Given the description of an element on the screen output the (x, y) to click on. 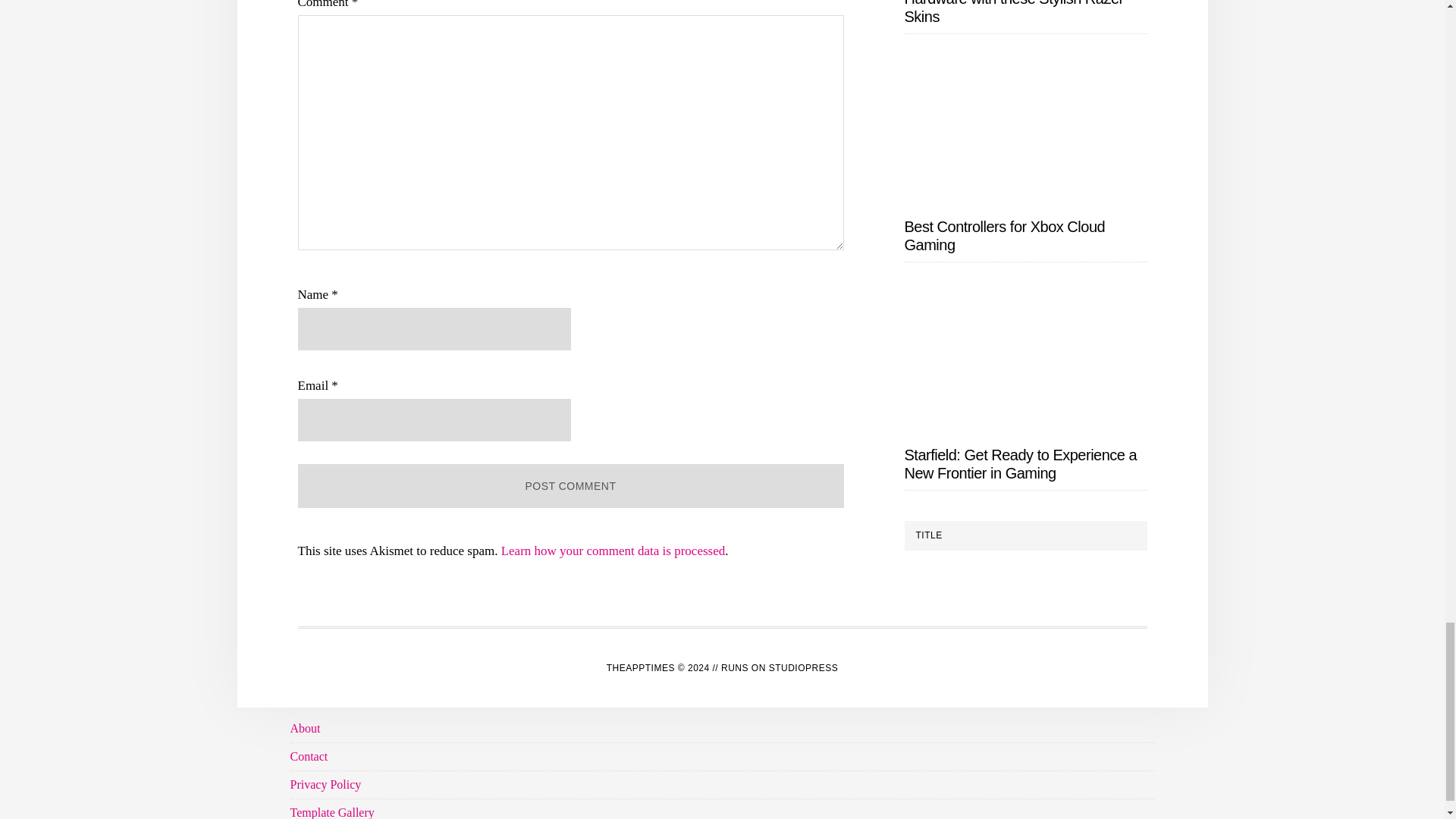
Post Comment (570, 485)
Post Comment (570, 485)
Learn how your comment data is processed (612, 550)
